Given the description of an element on the screen output the (x, y) to click on. 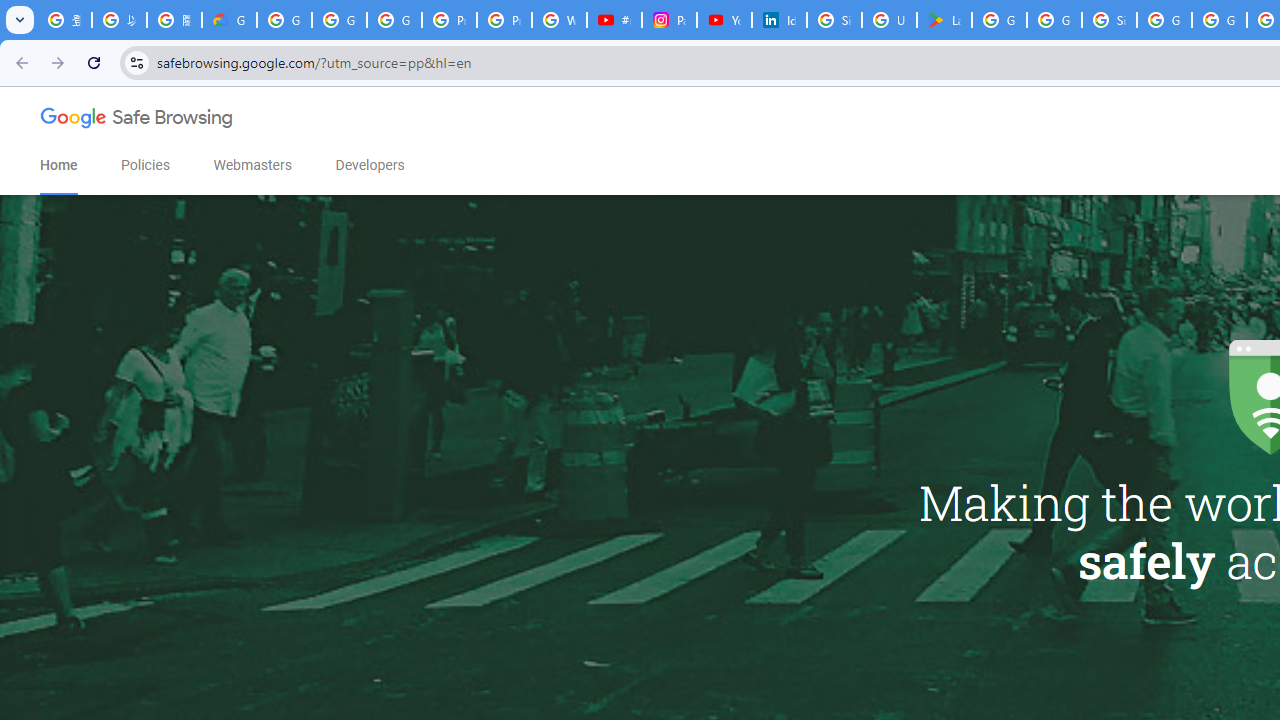
Sign in - Google Accounts (833, 20)
Privacy Help Center - Policies Help (504, 20)
YouTube Culture & Trends - On The Rise: Handcam Videos (724, 20)
Google Safe Browsing (137, 121)
Policies (145, 165)
Google (75, 120)
